Given the description of an element on the screen output the (x, y) to click on. 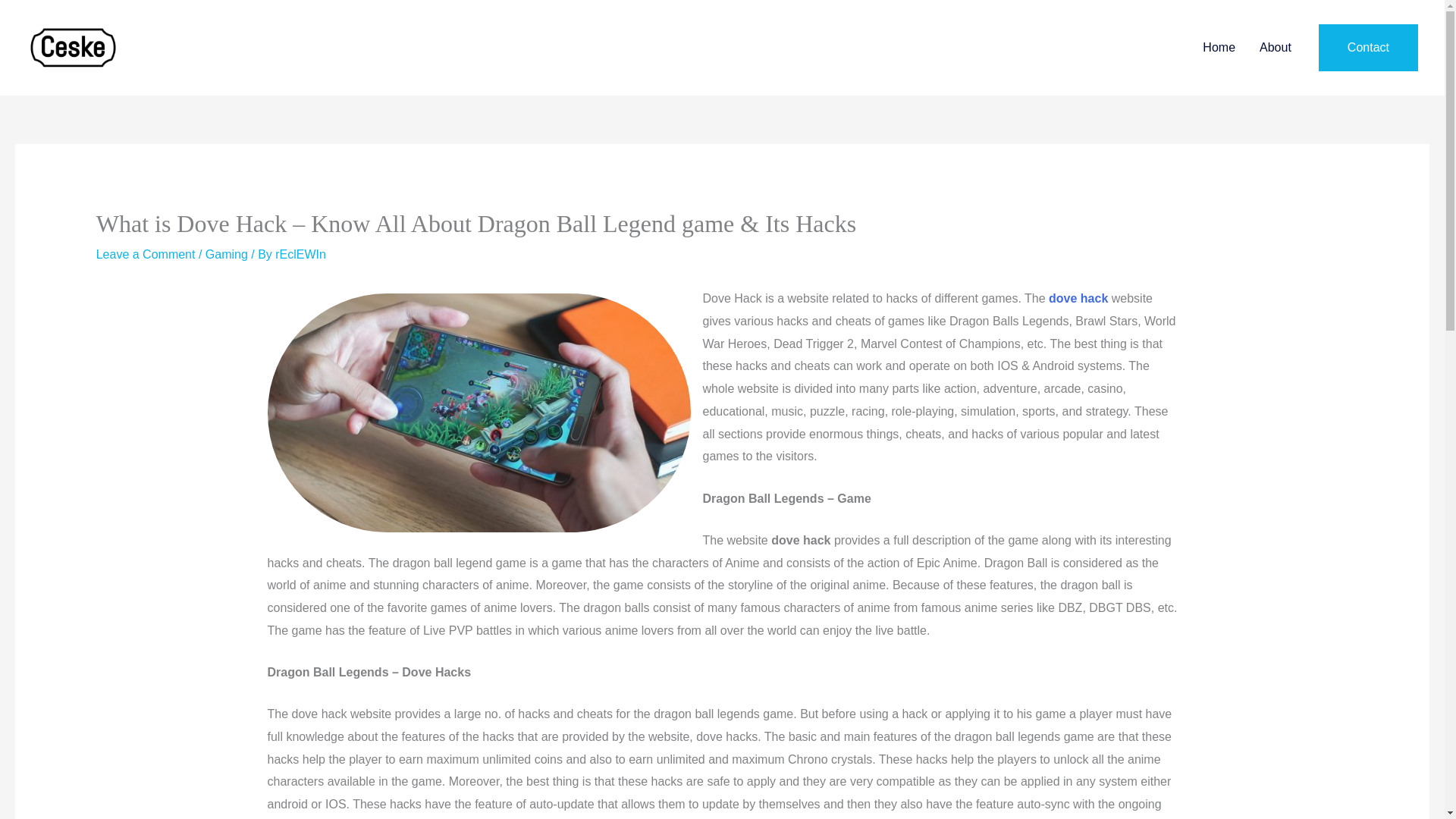
rEclEWIn (300, 254)
About (1275, 47)
Leave a Comment (145, 254)
dove hack (1078, 297)
Contact (1368, 47)
Home (1219, 47)
View all posts by rEclEWIn (300, 254)
Gaming (226, 254)
